Given the description of an element on the screen output the (x, y) to click on. 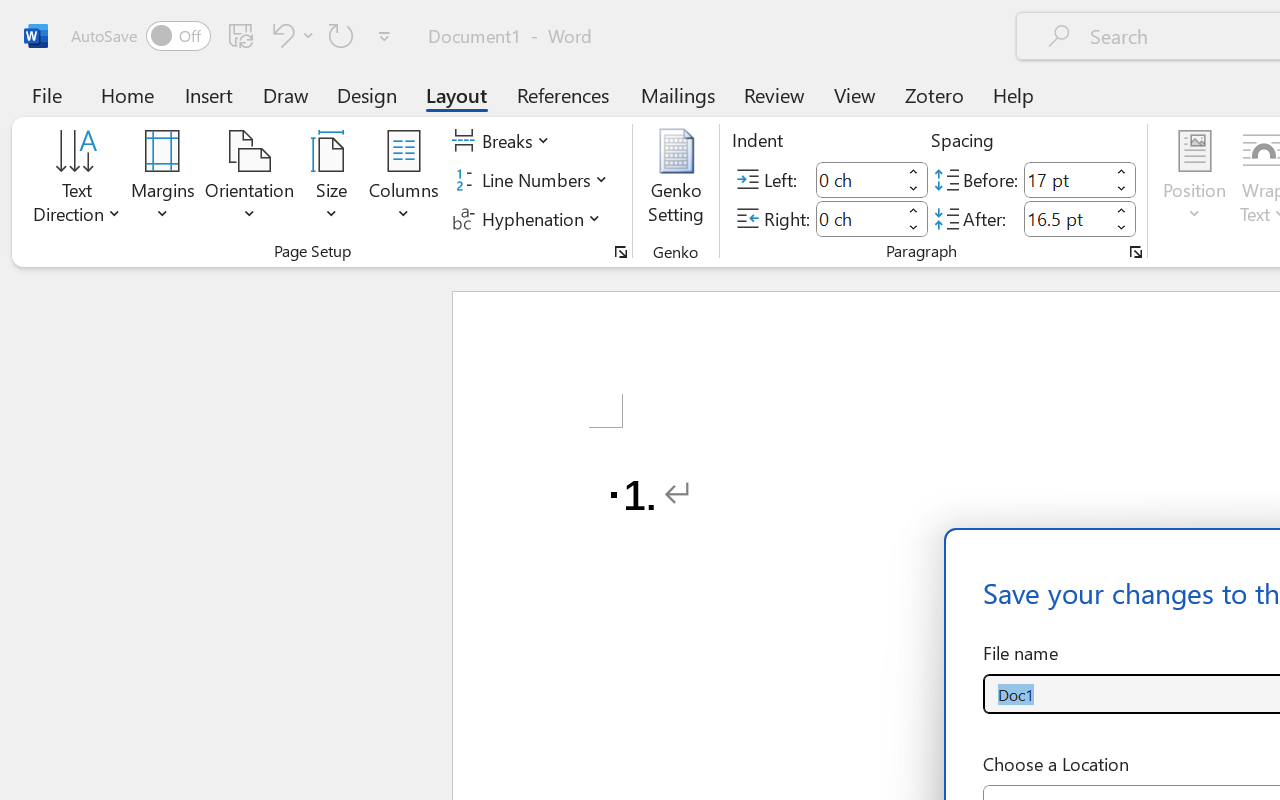
Undo Number Default (280, 35)
Spacing After (1066, 218)
Margins (163, 179)
Less (1121, 227)
Text Direction (77, 179)
Indent Right (858, 218)
Hyphenation (529, 218)
